Given the description of an element on the screen output the (x, y) to click on. 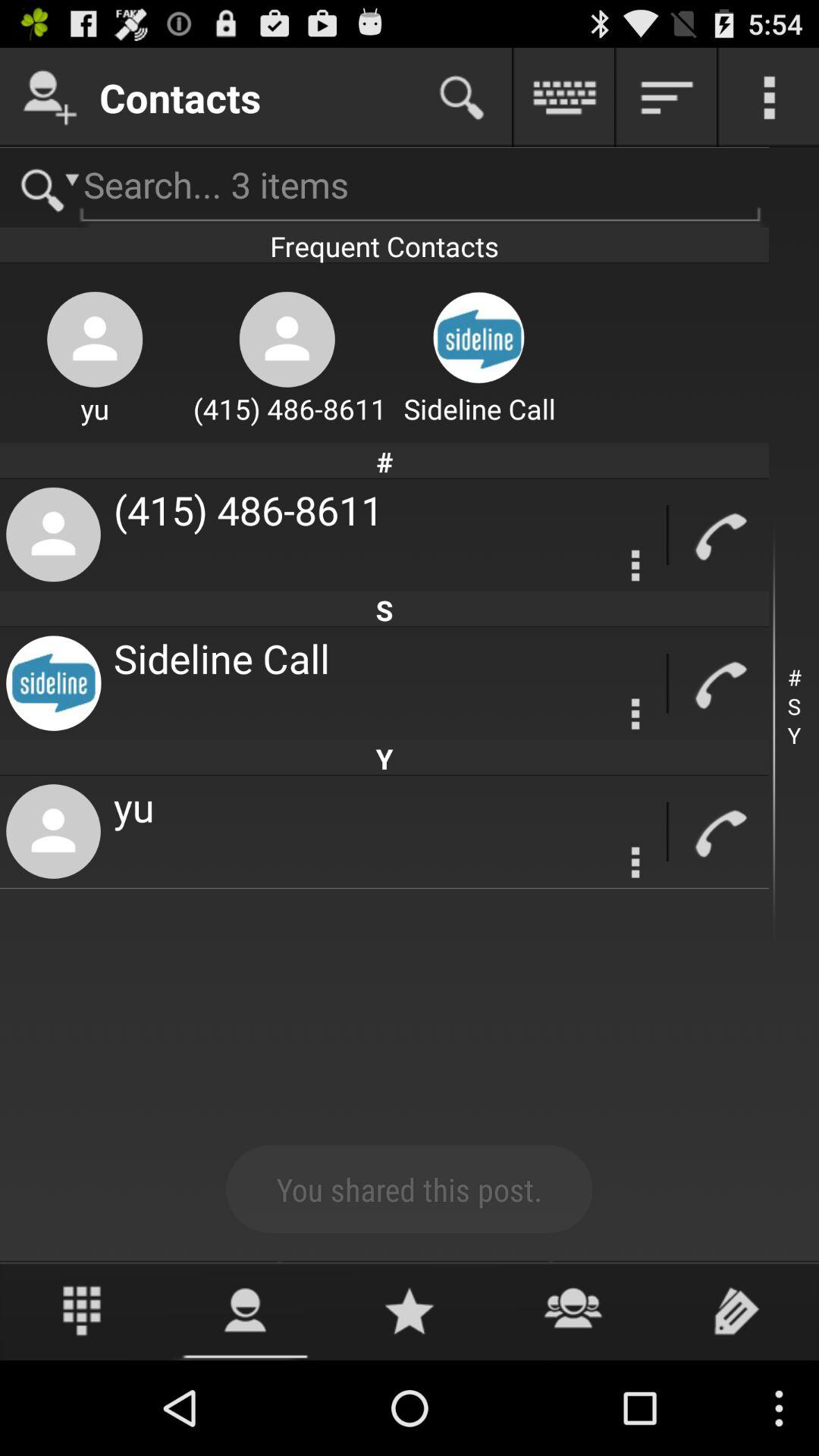
menu page (635, 862)
